Given the description of an element on the screen output the (x, y) to click on. 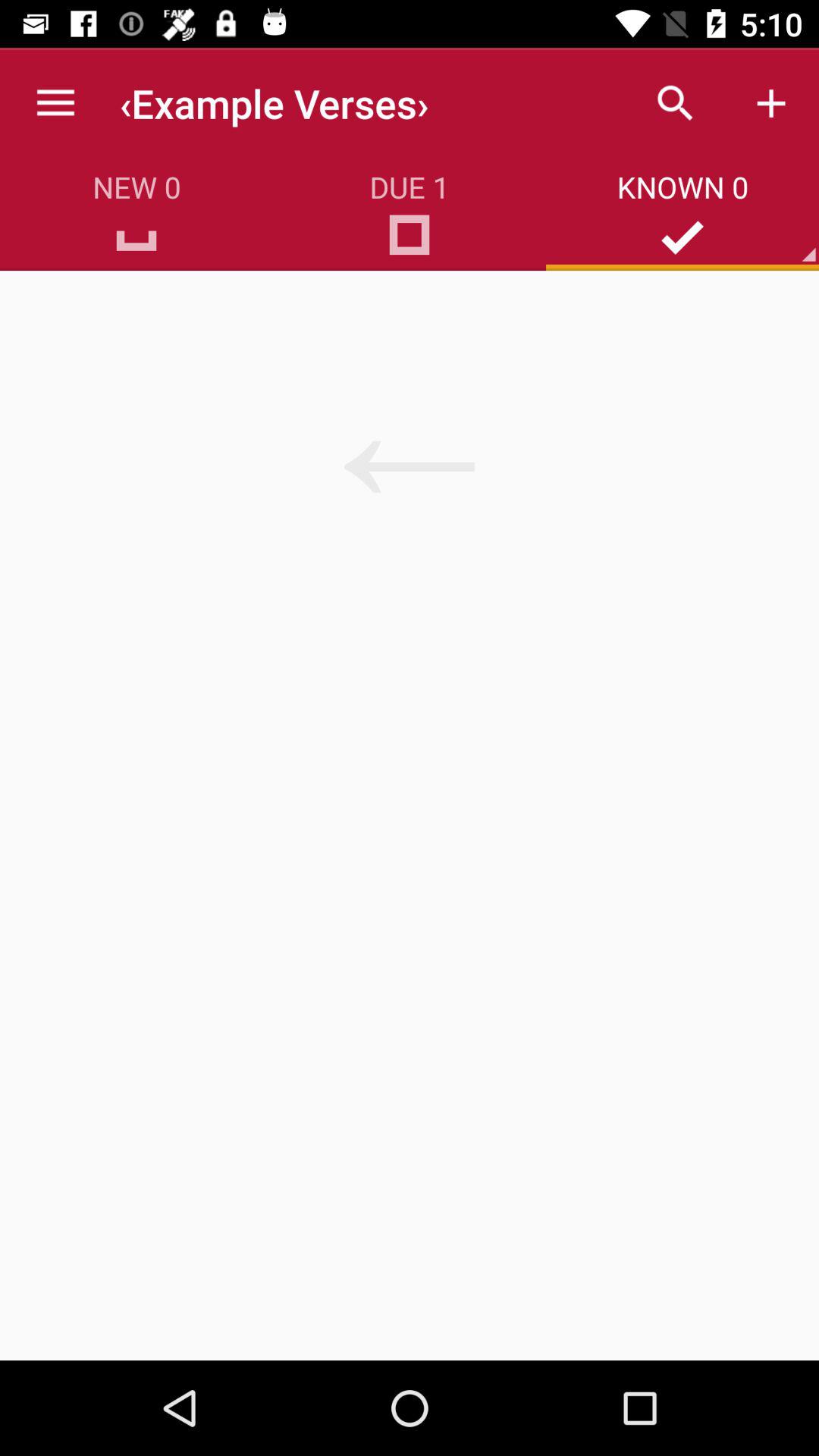
launch the icon above known 0 item (771, 103)
